Given the description of an element on the screen output the (x, y) to click on. 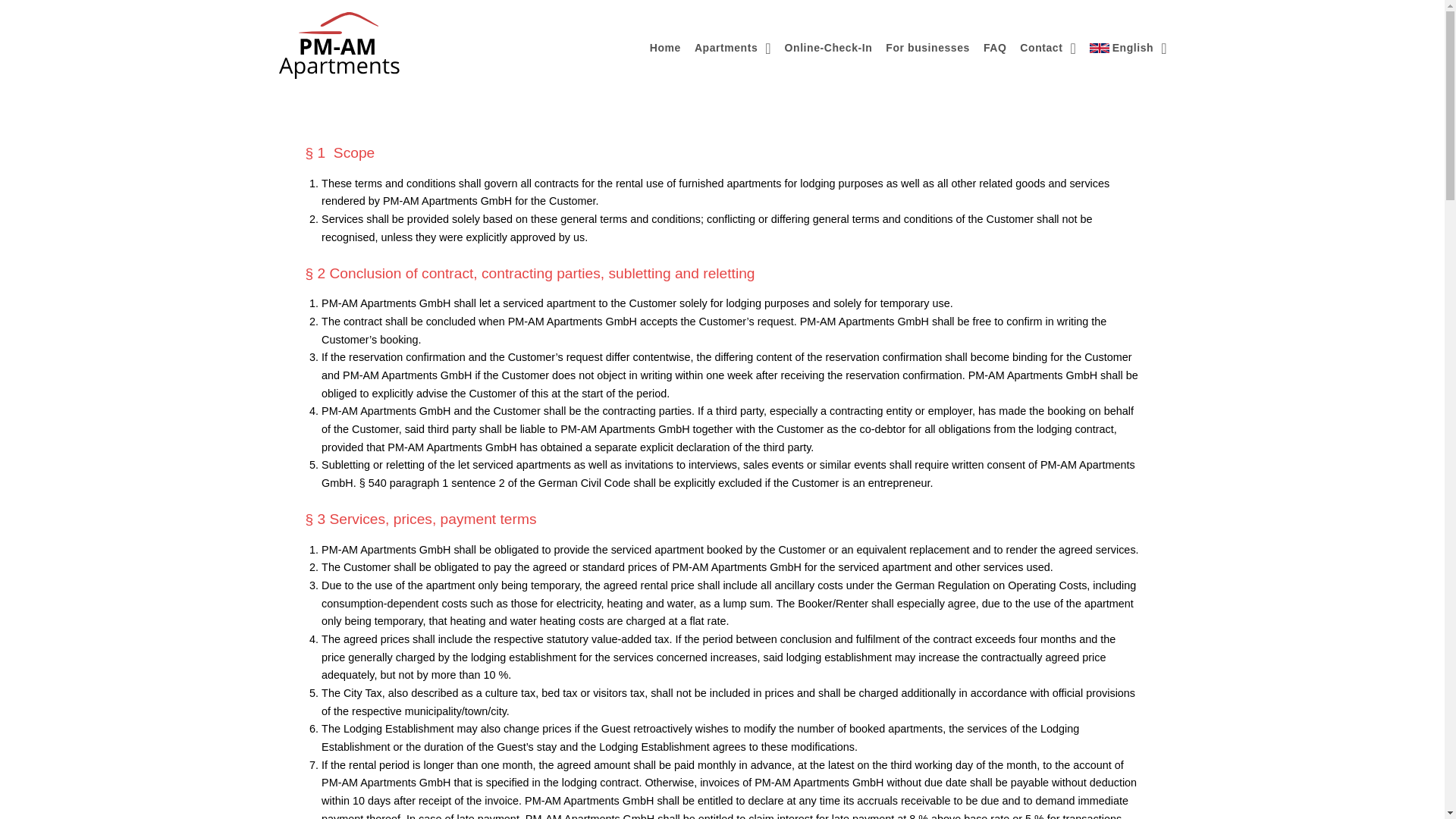
Home (665, 47)
Online-Check-In (828, 47)
For businesses (927, 47)
Contact (1047, 47)
English (1128, 47)
Apartments (732, 47)
FAQ (994, 47)
